Given the description of an element on the screen output the (x, y) to click on. 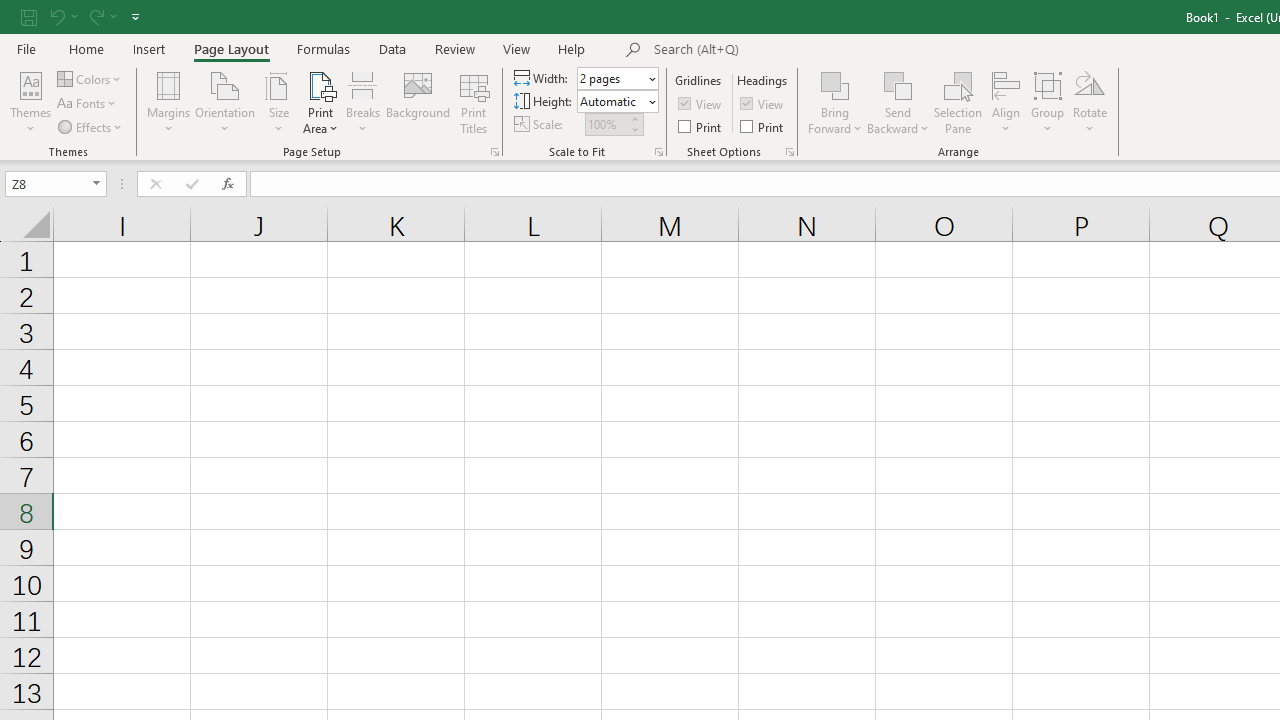
View (763, 103)
Bring Forward (835, 102)
Send Backward (898, 102)
Help (572, 48)
Orientation (225, 102)
Themes (30, 102)
Size (278, 102)
Selection Pane... (958, 102)
System (10, 11)
